Given the description of an element on the screen output the (x, y) to click on. 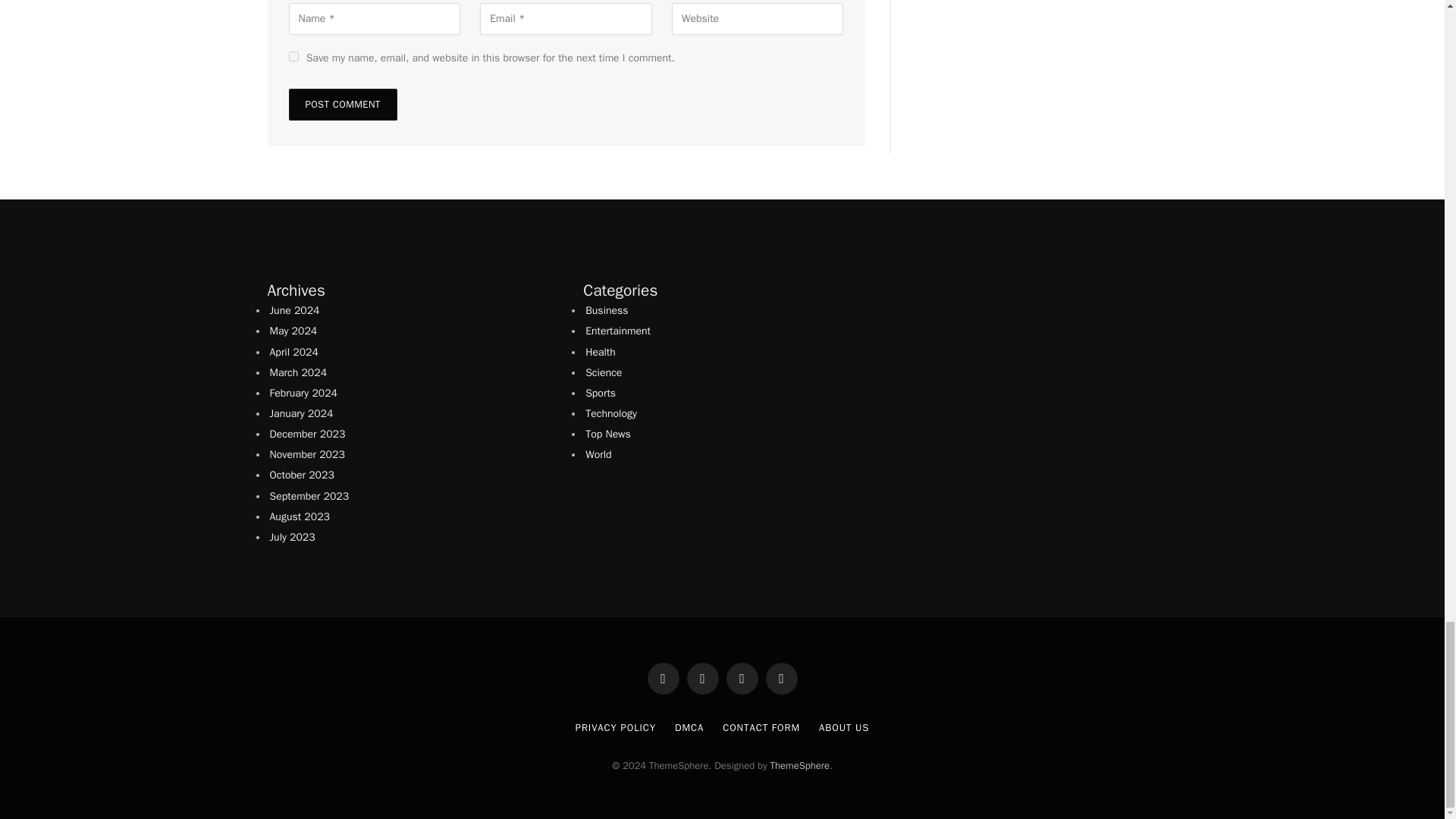
Post Comment (342, 104)
yes (293, 56)
